Given the description of an element on the screen output the (x, y) to click on. 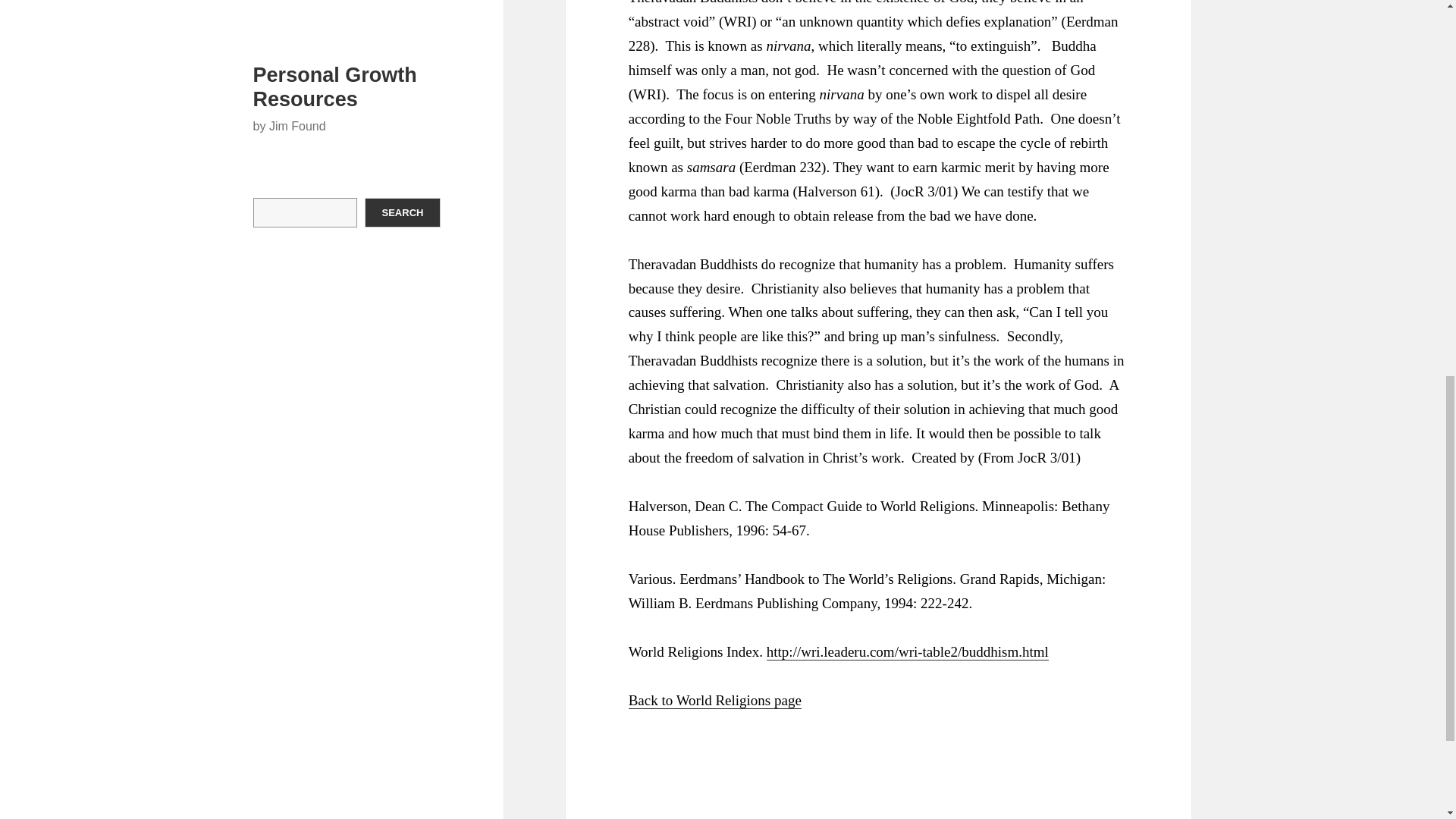
World Rel communication (715, 700)
Back to World Religions page (715, 700)
